Given the description of an element on the screen output the (x, y) to click on. 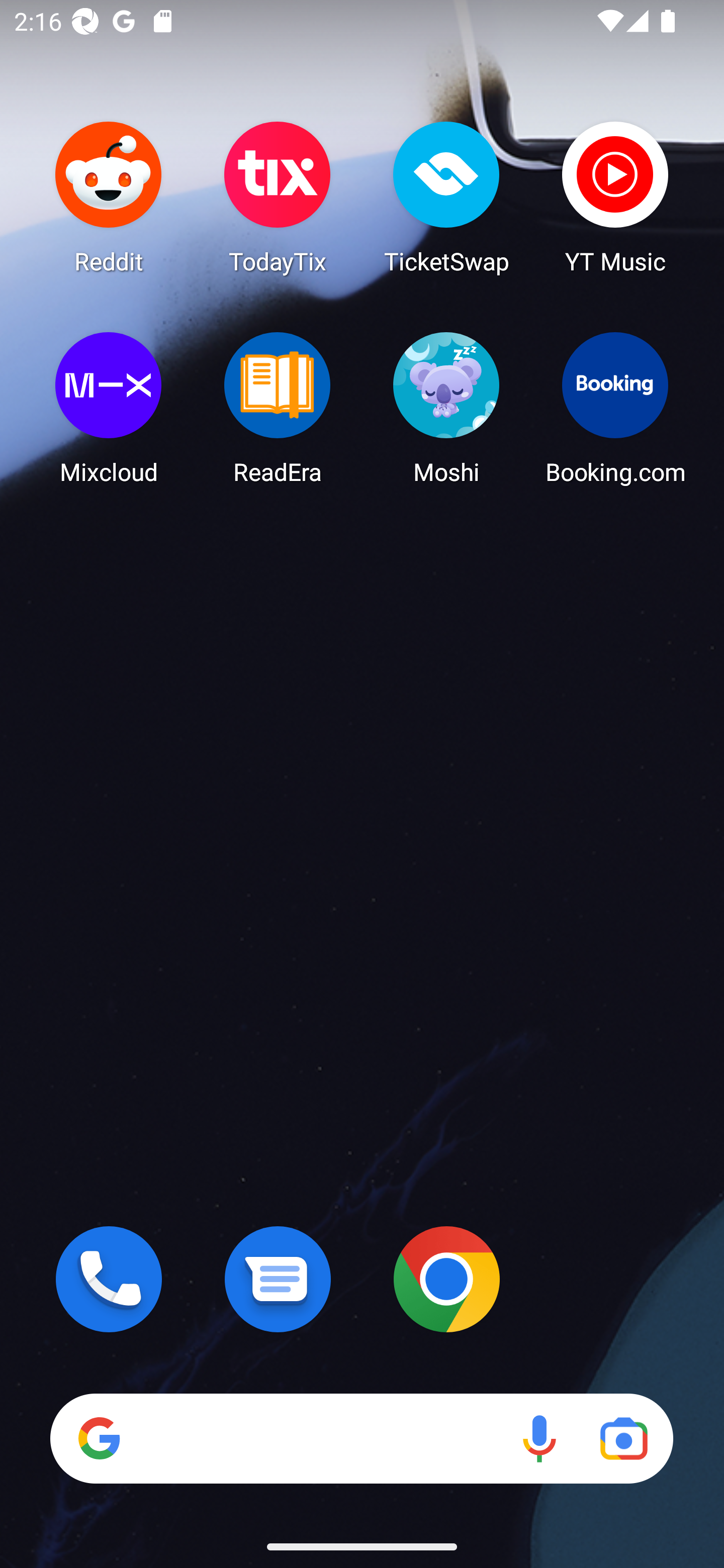
Reddit (108, 196)
TodayTix (277, 196)
TicketSwap (445, 196)
YT Music (615, 196)
Mixcloud (108, 407)
ReadEra (277, 407)
Moshi (445, 407)
Booking.com (615, 407)
Phone (108, 1279)
Messages (277, 1279)
Chrome (446, 1279)
Search Voice search Google Lens (361, 1438)
Voice search (539, 1438)
Google Lens (623, 1438)
